Given the description of an element on the screen output the (x, y) to click on. 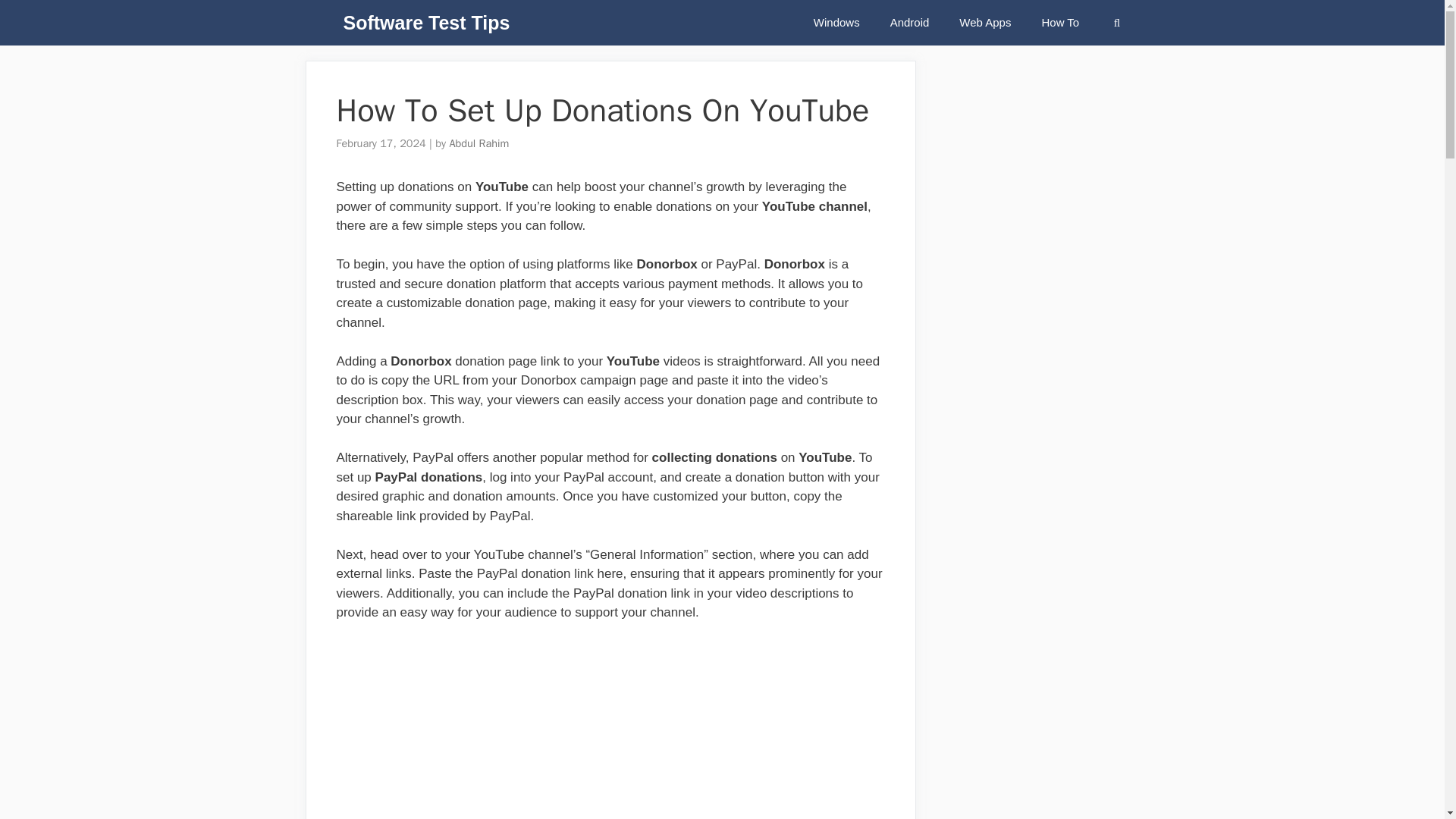
Web Apps (984, 22)
View all posts by Abdul Rahim (478, 142)
Android (909, 22)
Abdul Rahim (478, 142)
Windows (836, 22)
Software Test Tips (425, 22)
How To (1060, 22)
